Given the description of an element on the screen output the (x, y) to click on. 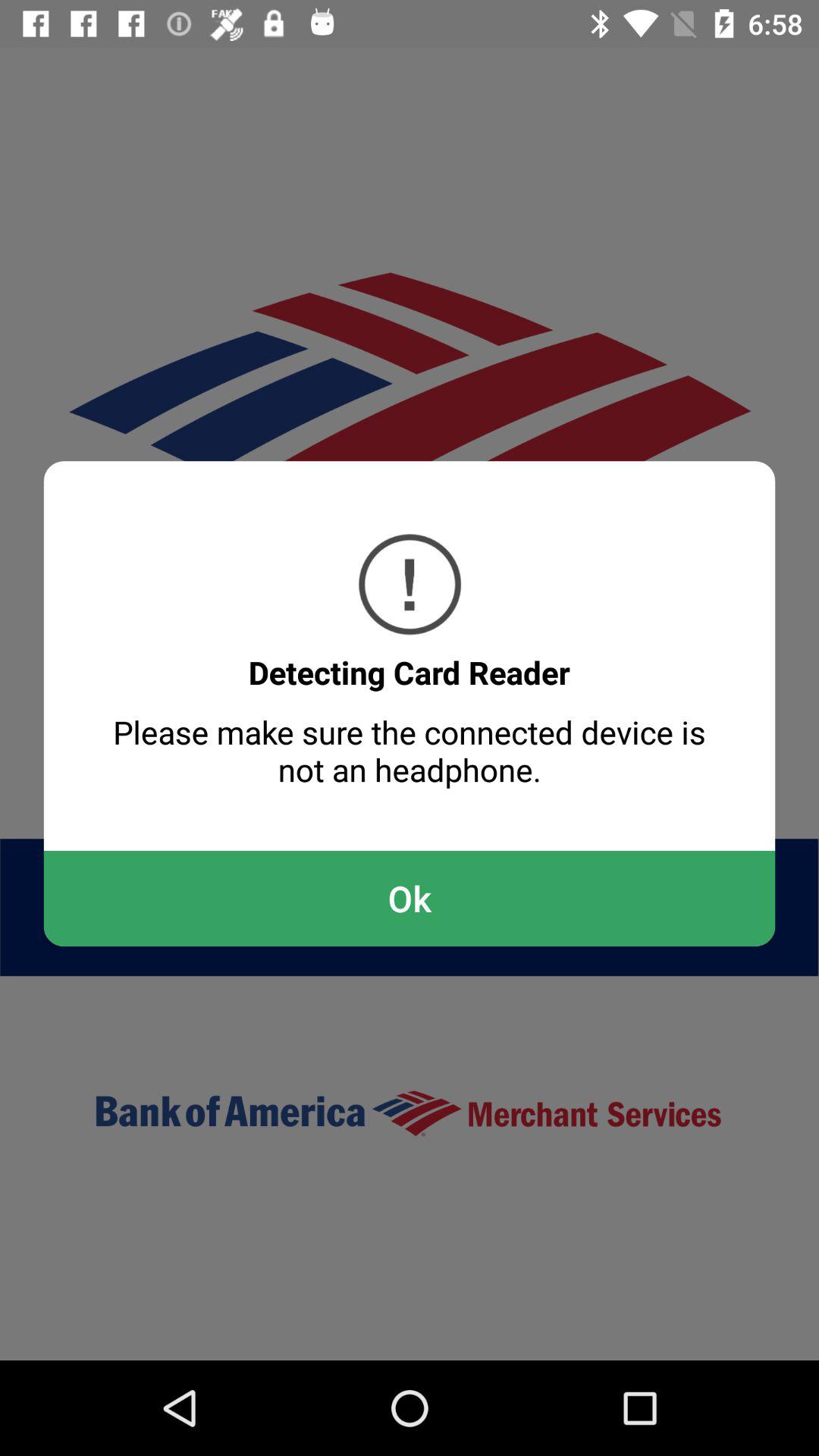
choose the ok item (409, 898)
